Given the description of an element on the screen output the (x, y) to click on. 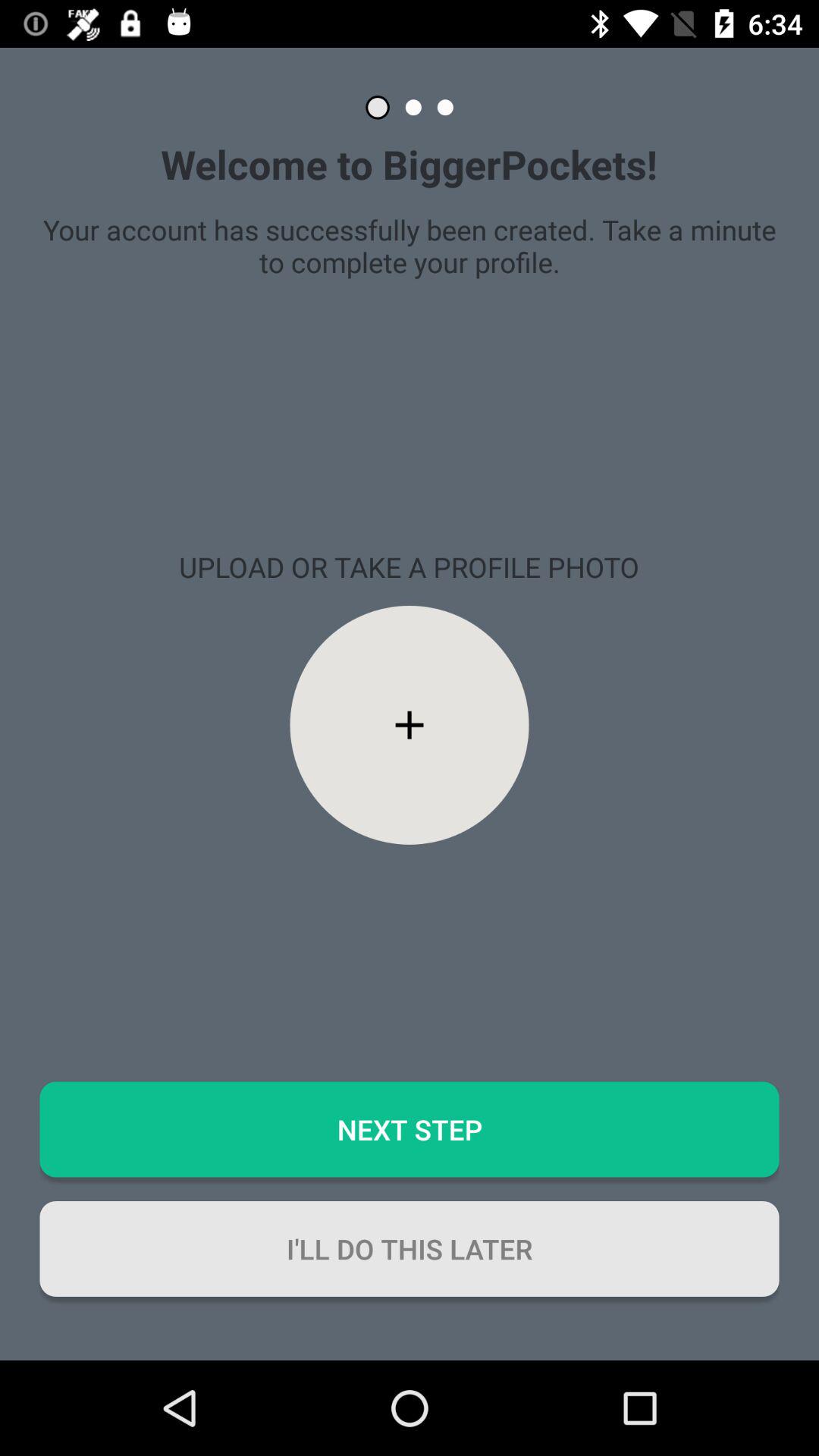
select the next step icon (409, 1129)
